Given the description of an element on the screen output the (x, y) to click on. 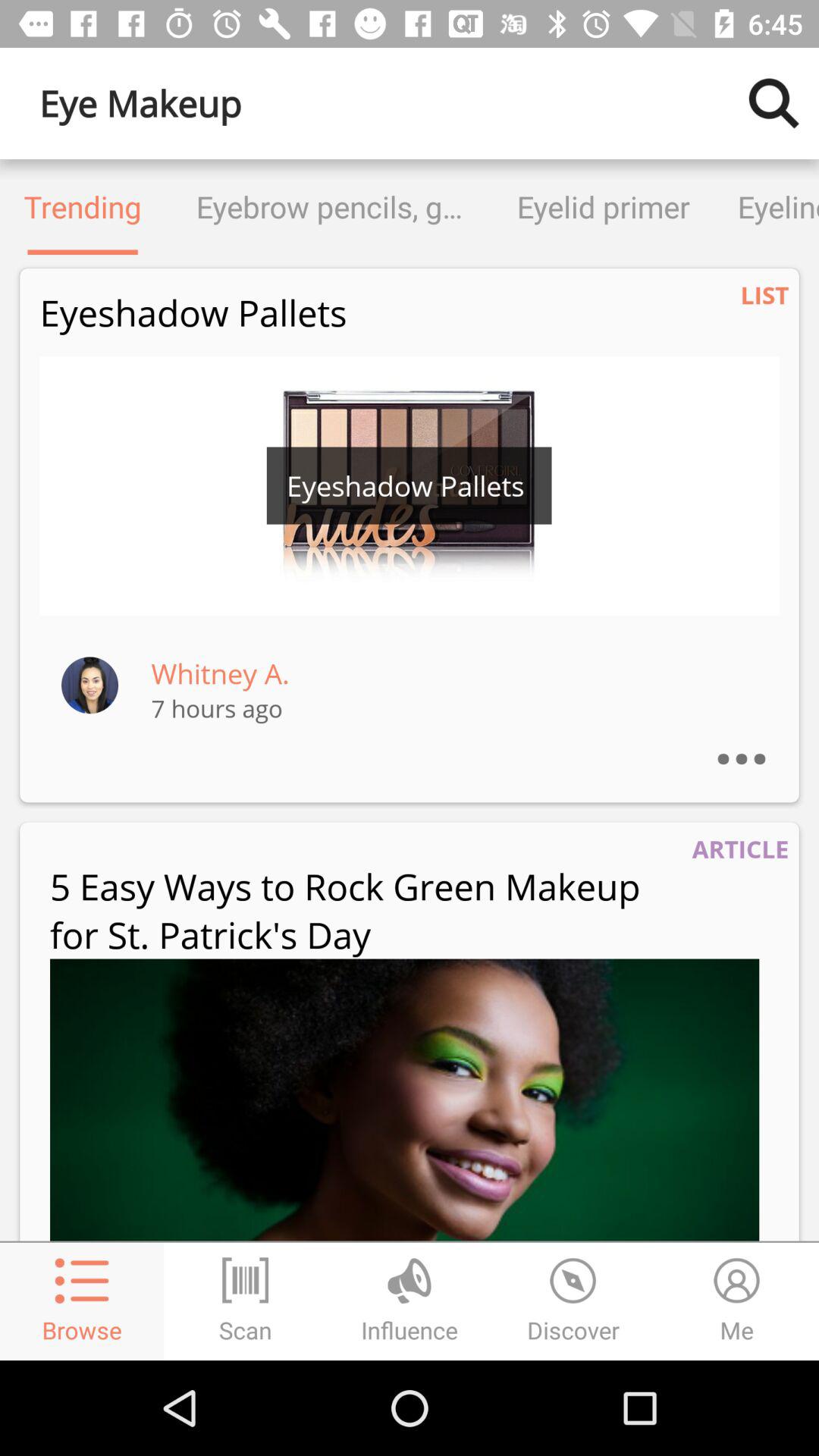
launch icon to the right of the eyeshadow pallets  item (764, 294)
